Given the description of an element on the screen output the (x, y) to click on. 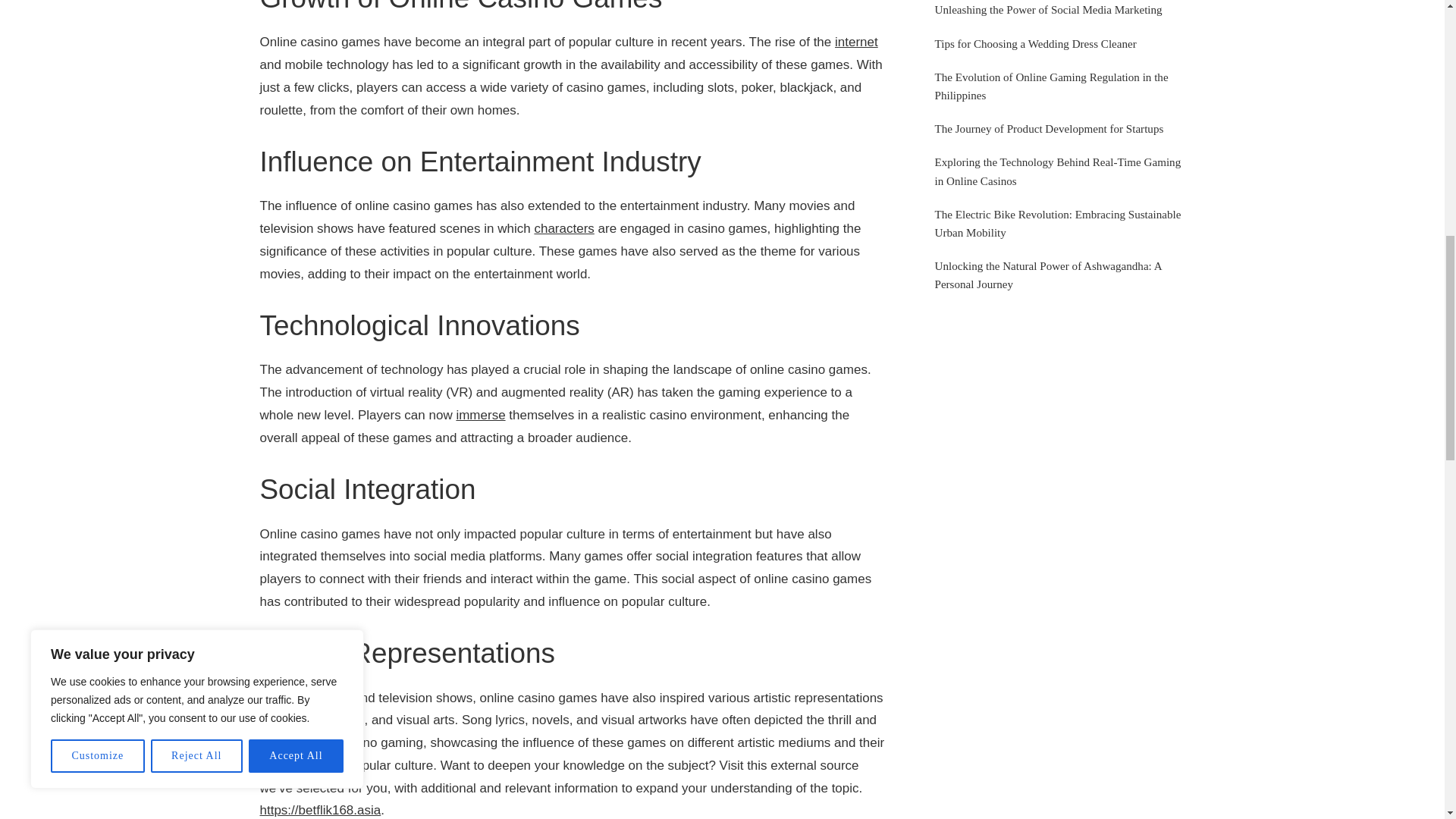
characters (564, 228)
internet (855, 42)
immerse (480, 414)
